Given the description of an element on the screen output the (x, y) to click on. 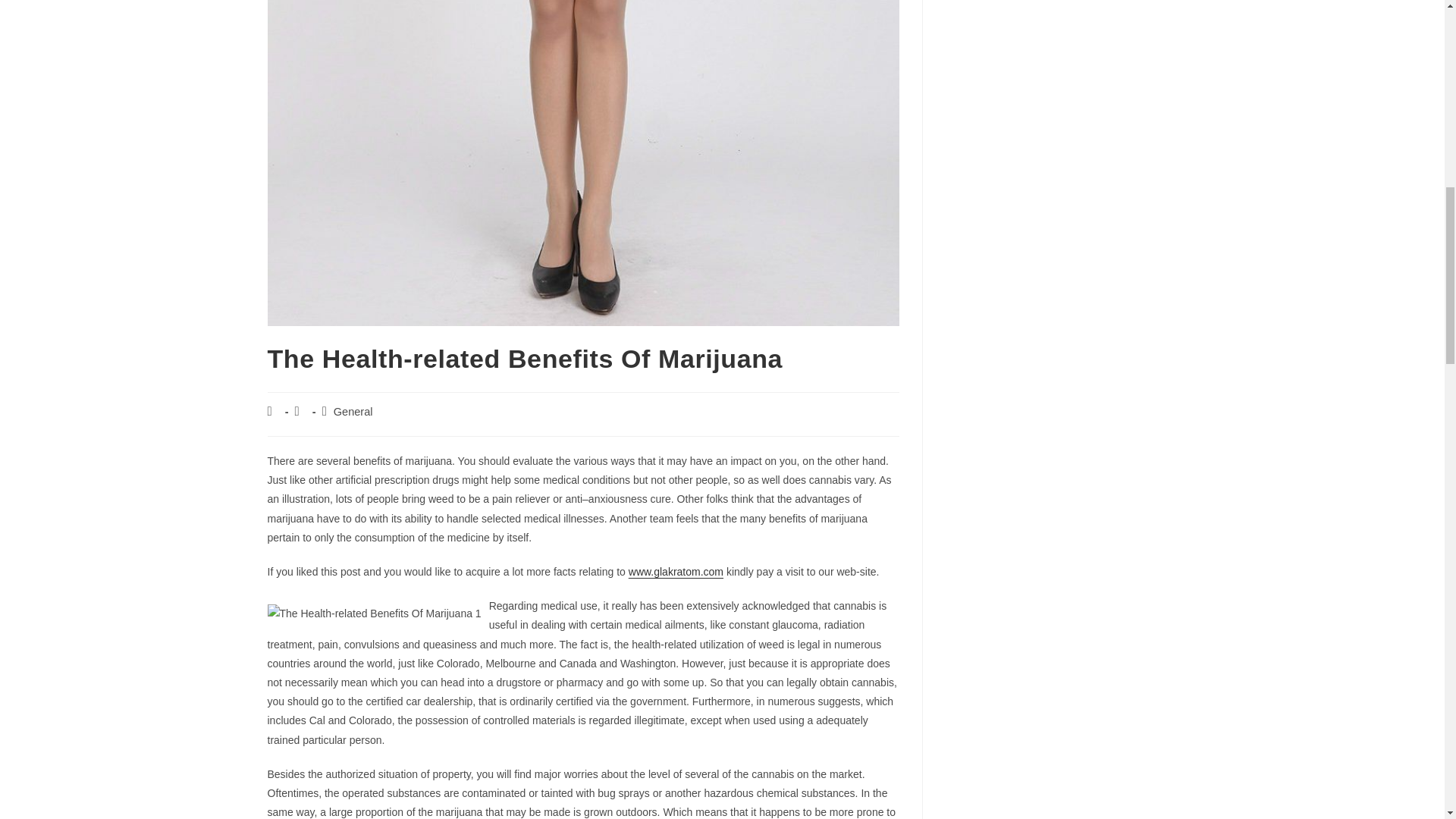
General (352, 411)
www.glakratom.com (675, 571)
